Given the description of an element on the screen output the (x, y) to click on. 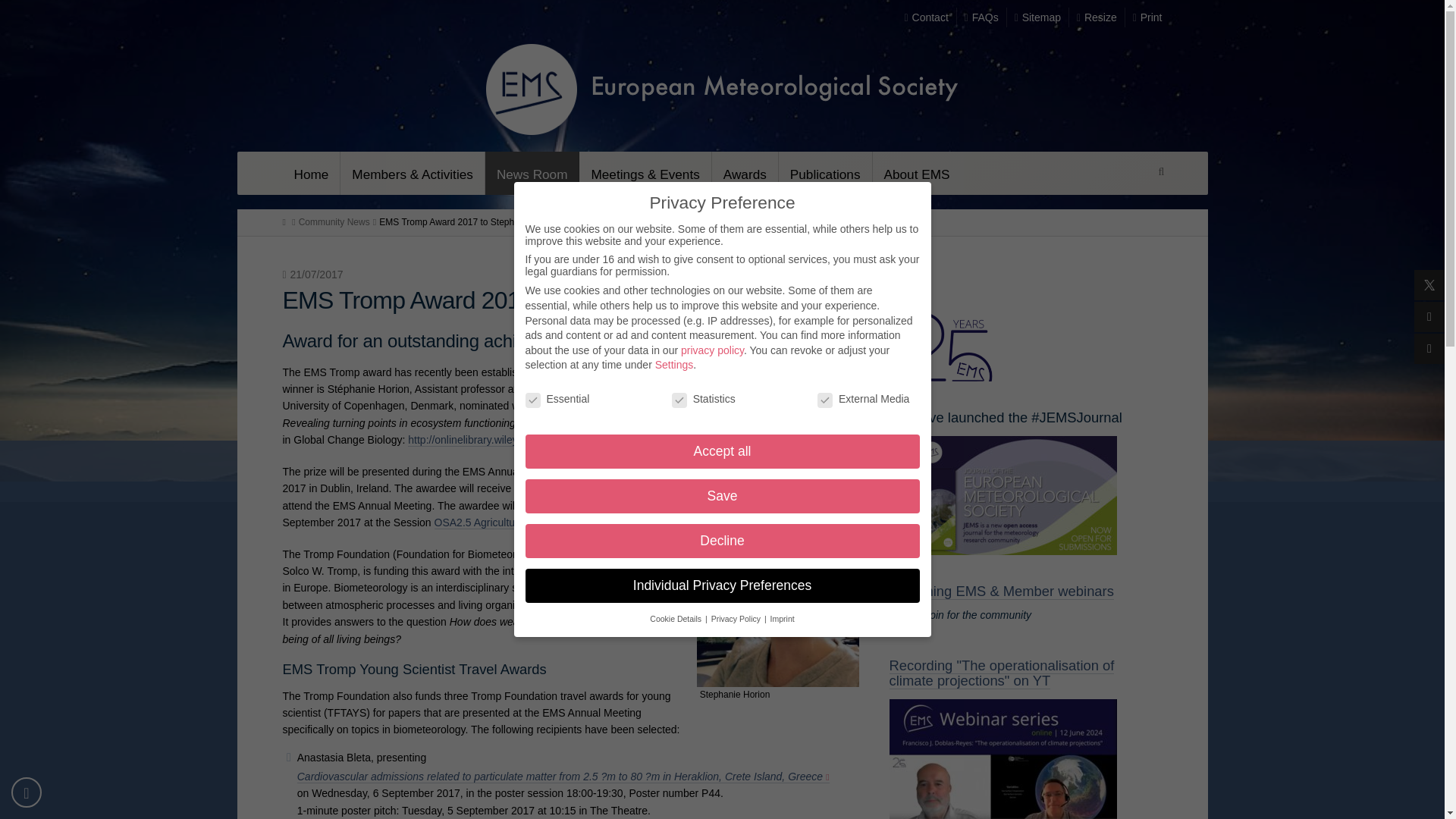
Go to the Community News category archives. (333, 222)
